Given the description of an element on the screen output the (x, y) to click on. 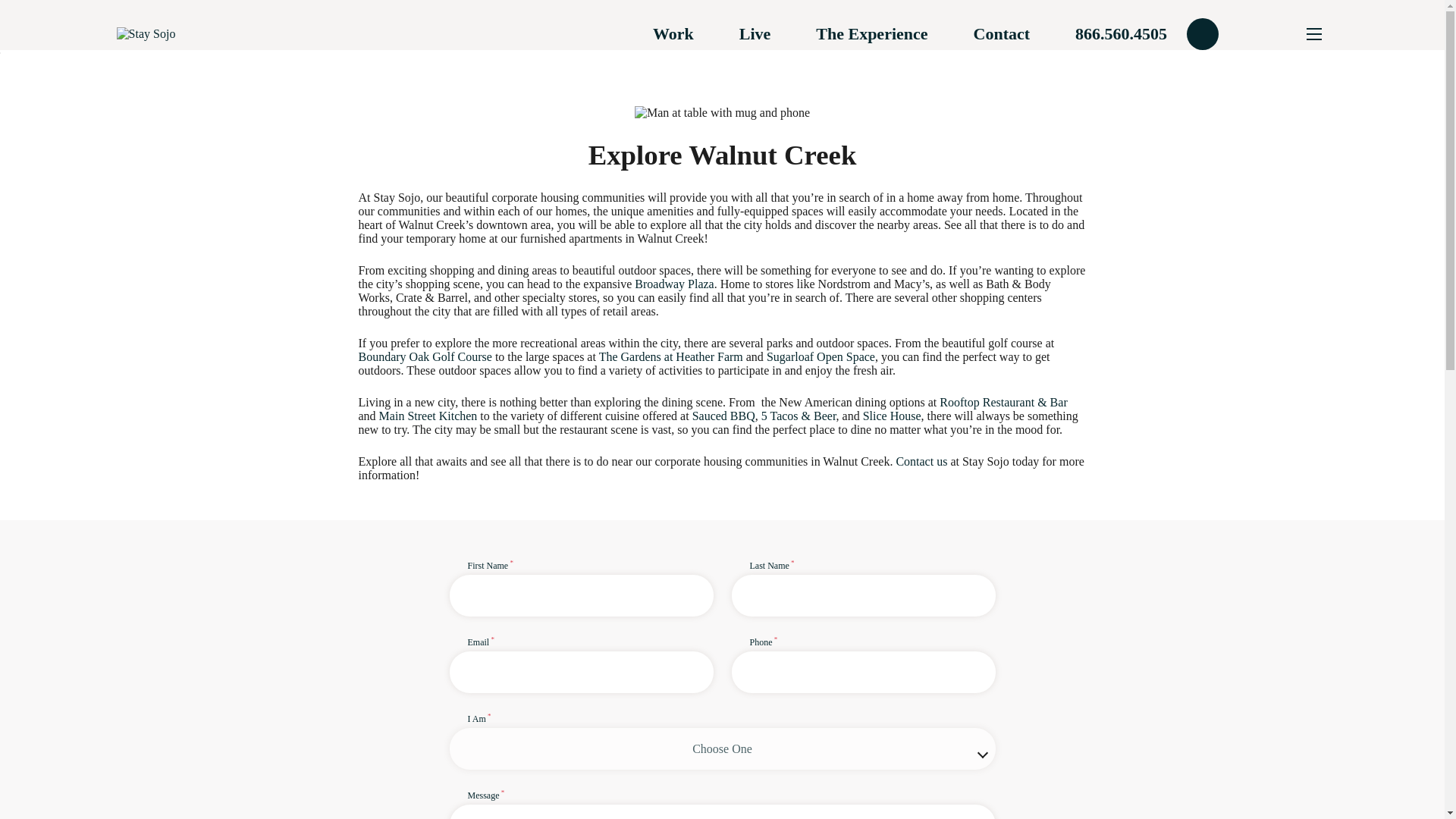
Message (721, 803)
Main Street Kitchen (427, 415)
Work (673, 34)
Skip to Main Content (49, 52)
Man at table with mug and phone (721, 112)
Phone number must be 10 digits long. (862, 663)
Slice House (892, 415)
866.560.4505 (1149, 33)
The Gardens at Heather Farm (670, 356)
Live (755, 34)
